Given the description of an element on the screen output the (x, y) to click on. 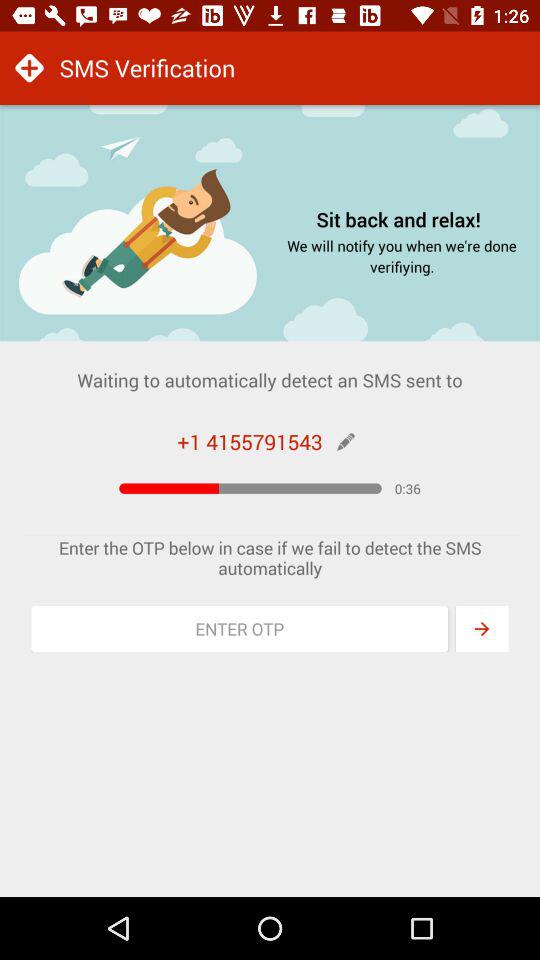
enter otp section (239, 629)
